Given the description of an element on the screen output the (x, y) to click on. 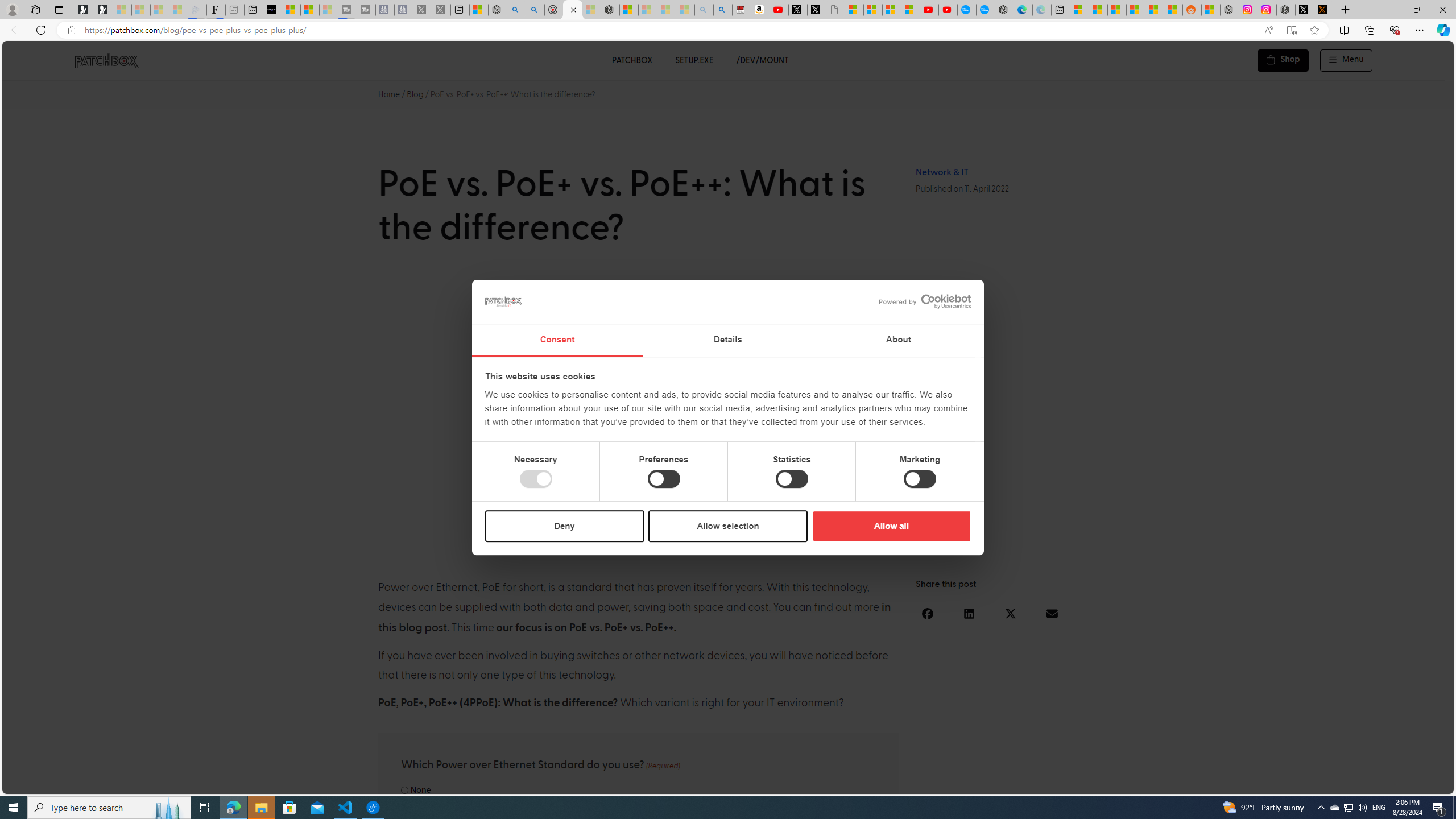
Nordace - Nordace has arrived Hong Kong (1004, 9)
